Given the description of an element on the screen output the (x, y) to click on. 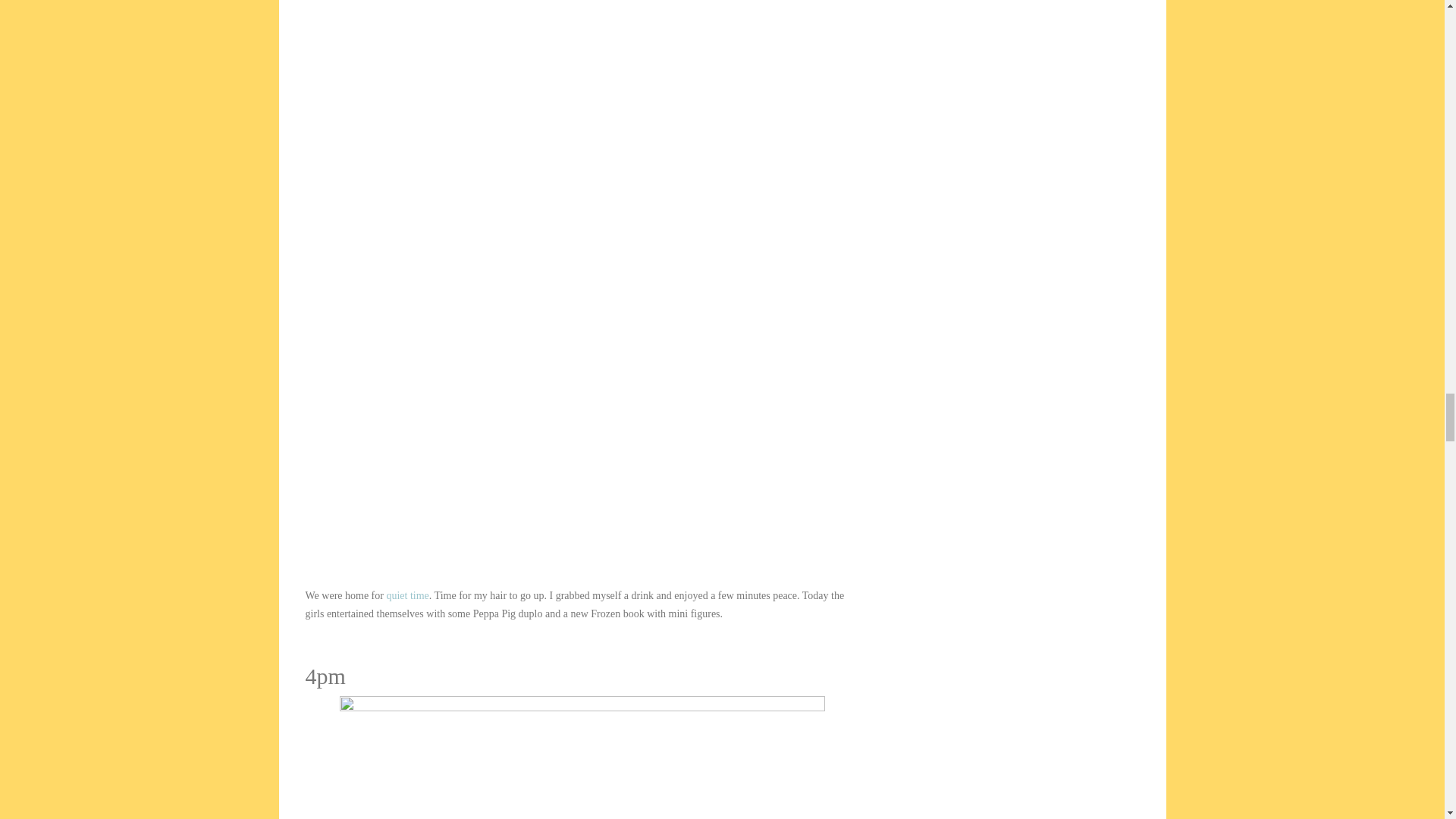
quiet time (406, 595)
